Given the description of an element on the screen output the (x, y) to click on. 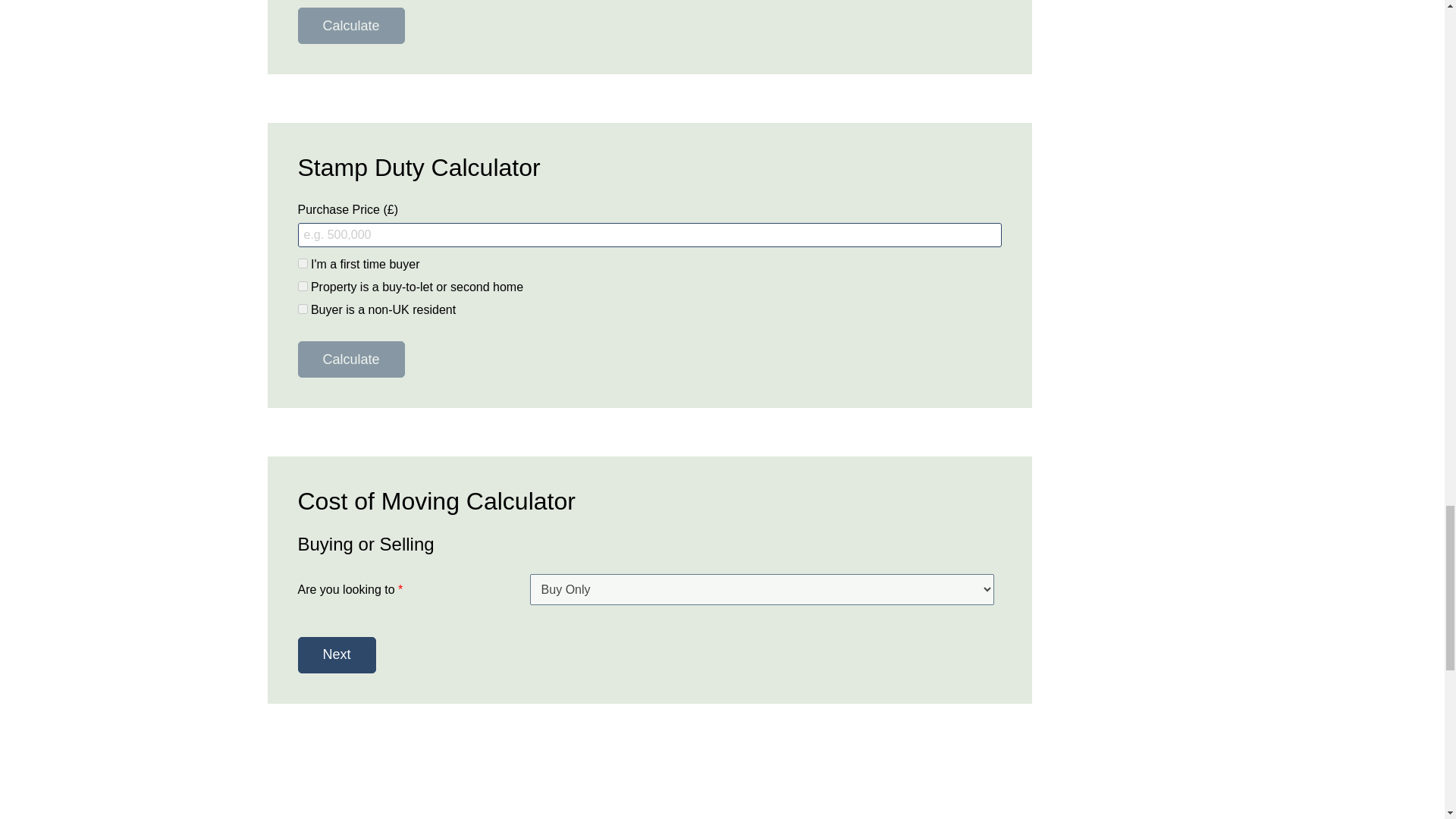
1 (302, 286)
1 (302, 308)
1 (302, 263)
